Given the description of an element on the screen output the (x, y) to click on. 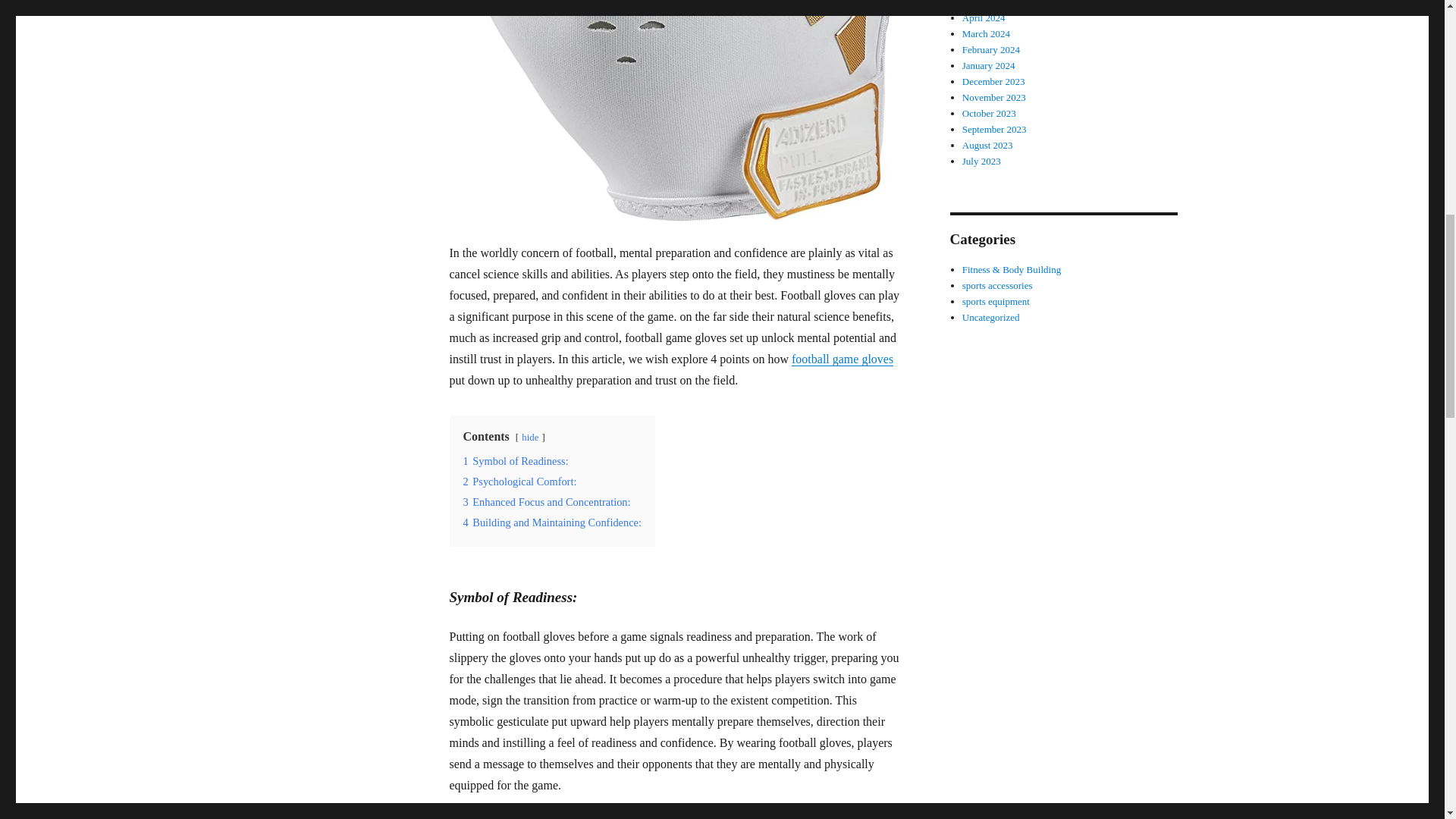
1 Symbol of Readiness: (515, 460)
July 2023 (981, 161)
football game gloves (842, 358)
December 2023 (993, 81)
February 2024 (991, 49)
March 2024 (986, 33)
3 Enhanced Focus and Concentration: (546, 501)
January 2024 (988, 65)
October 2023 (989, 112)
2 Psychological Comfort: (519, 481)
Uncategorized (991, 317)
May 2024 (982, 3)
hide (529, 437)
sports accessories (997, 285)
September 2023 (994, 129)
